Given the description of an element on the screen output the (x, y) to click on. 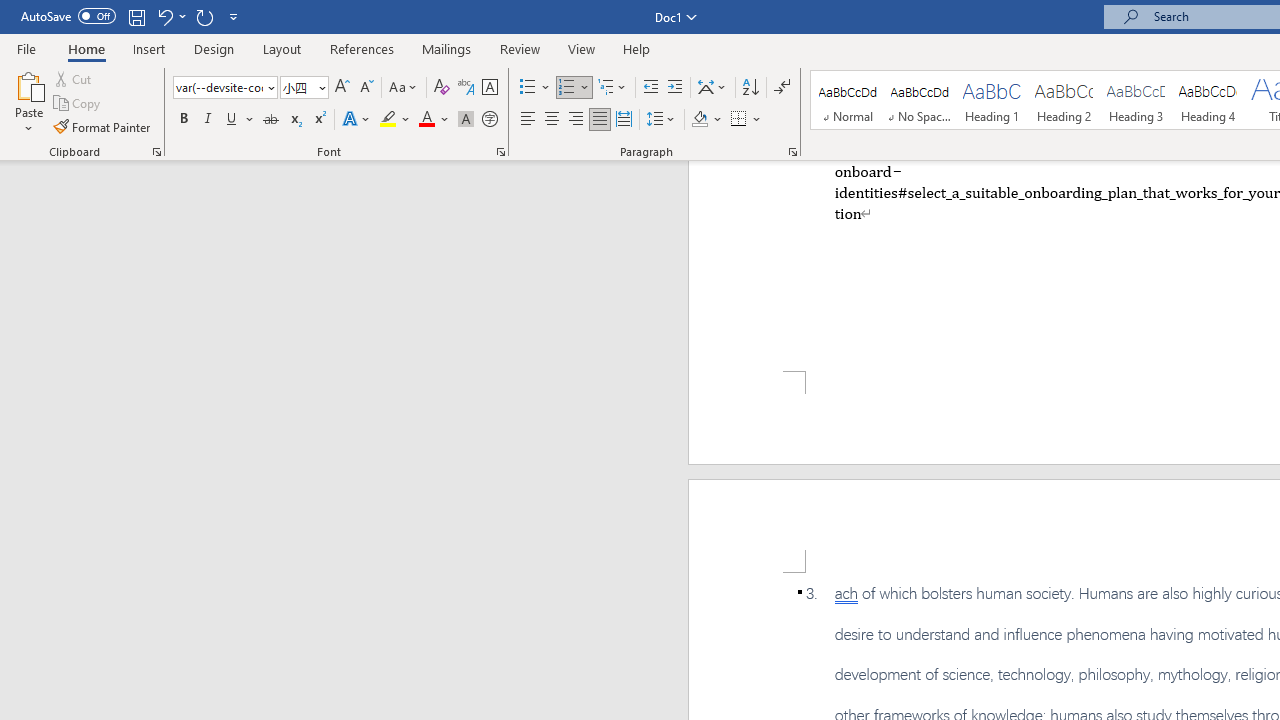
Decrease Indent (650, 87)
Review (520, 48)
Copy (78, 103)
Shrink Font (365, 87)
Line and Paragraph Spacing (661, 119)
Center (552, 119)
AutoSave (68, 16)
Subscript (294, 119)
Help (637, 48)
Numbering (566, 87)
Text Highlight Color Yellow (388, 119)
Open (320, 87)
Phonetic Guide... (465, 87)
